Given the description of an element on the screen output the (x, y) to click on. 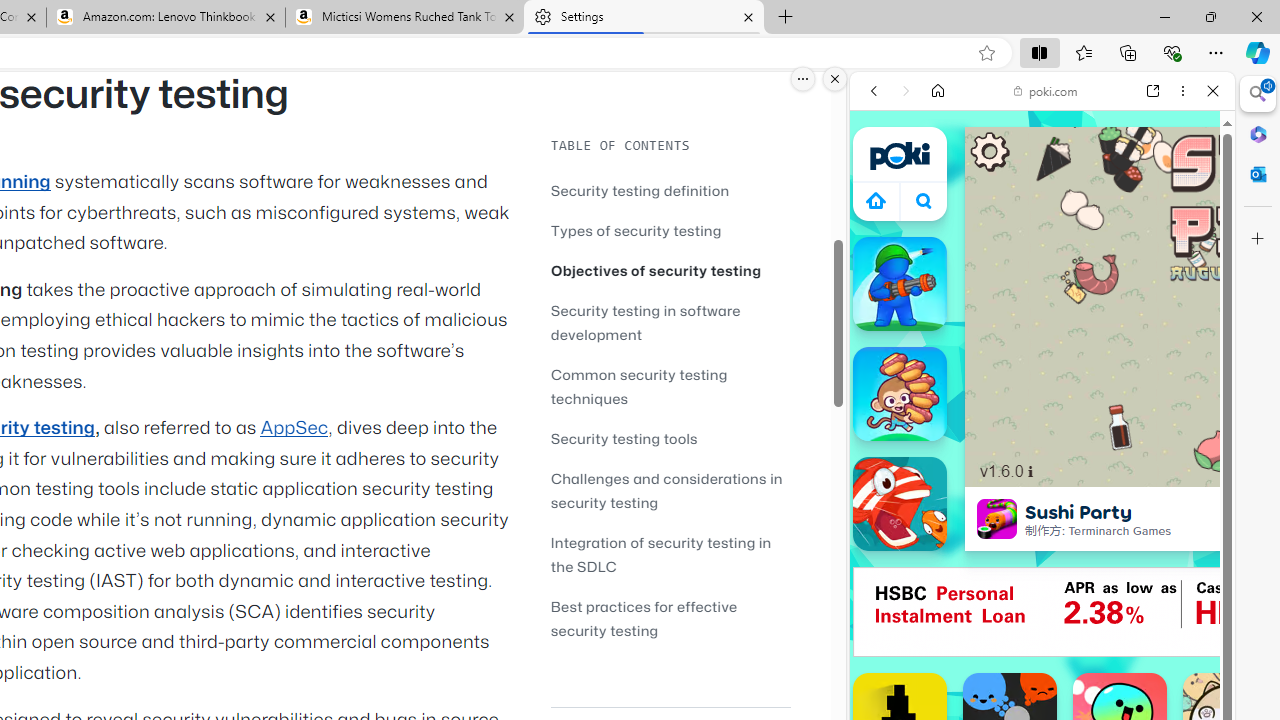
AppSec (293, 428)
Types of security testing (670, 230)
Poki - Free Online Games - Play Now! (1034, 309)
Objectives of security testing (655, 270)
Class: B_5ykBA46kDOxiz_R9wm (923, 200)
Class: aprWdaSScyiJf4Jvmsx9 (875, 200)
